Given the description of an element on the screen output the (x, y) to click on. 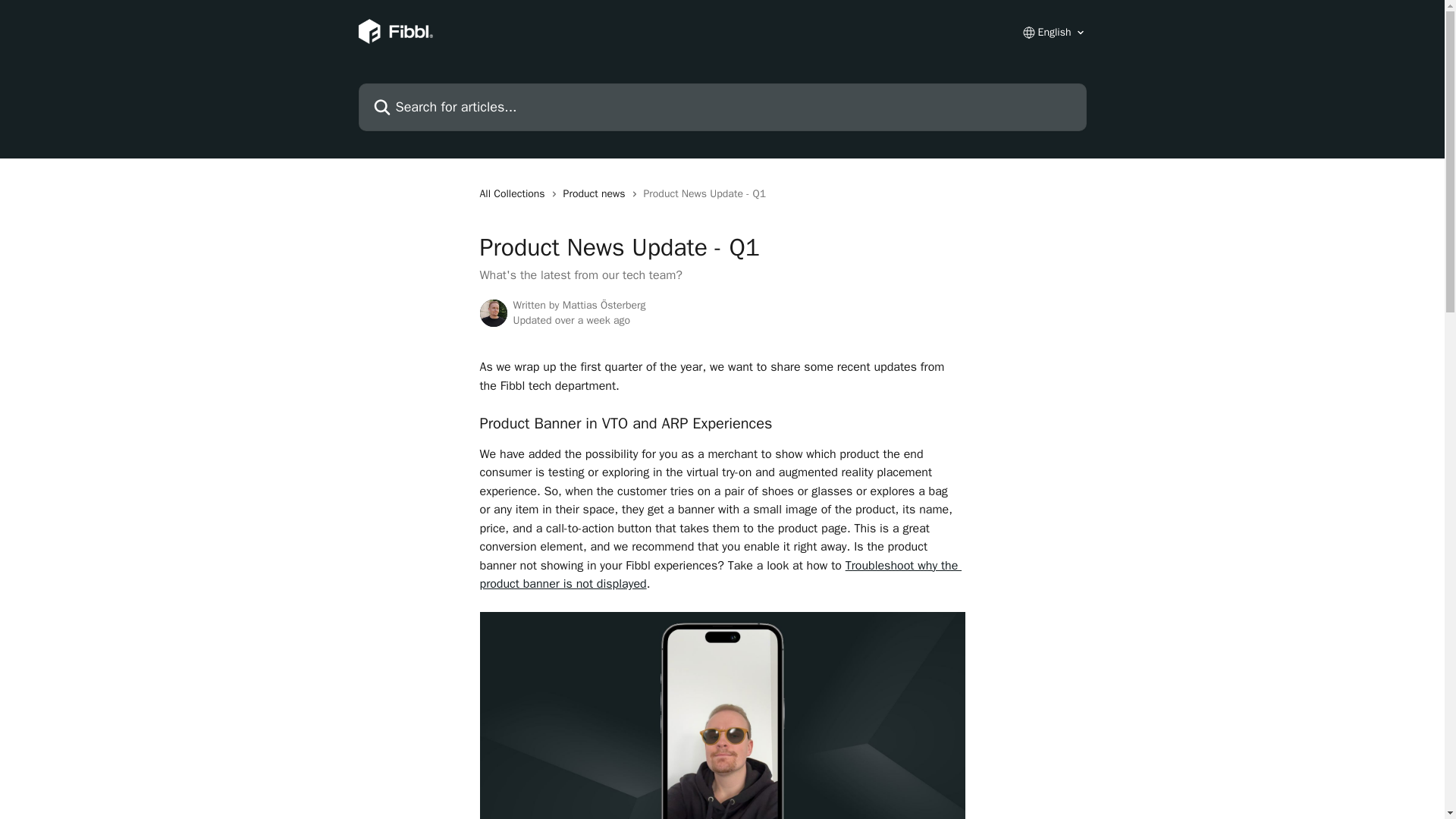
All Collections (514, 193)
Troubleshoot why the product banner is not displayed (719, 574)
Product news (597, 193)
